Given the description of an element on the screen output the (x, y) to click on. 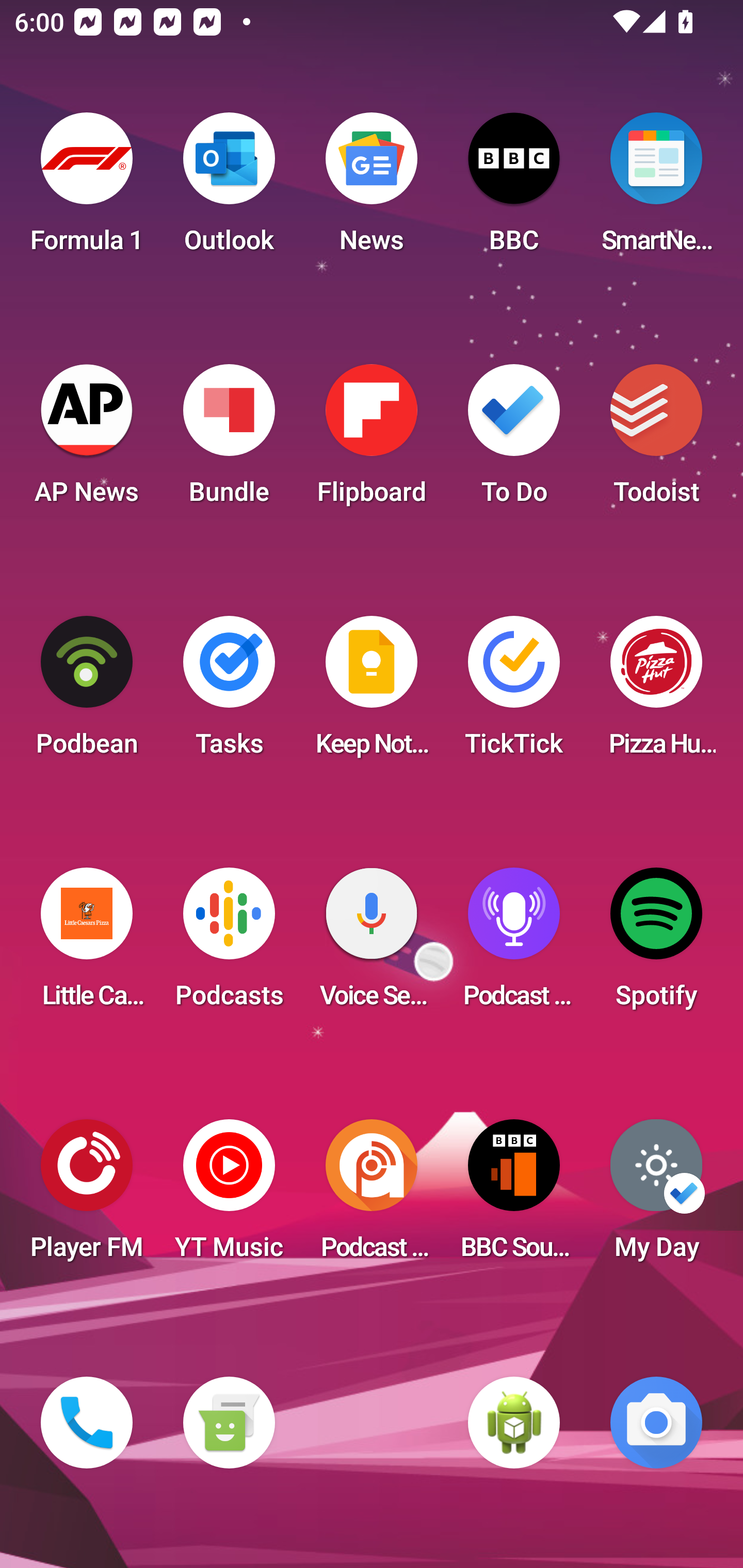
Formula 1 (86, 188)
Outlook (228, 188)
News (371, 188)
BBC (513, 188)
SmartNews (656, 188)
AP News (86, 440)
Bundle (228, 440)
Flipboard (371, 440)
To Do (513, 440)
Todoist (656, 440)
Podbean (86, 692)
Tasks (228, 692)
Keep Notes (371, 692)
TickTick (513, 692)
Pizza Hut HK & Macau (656, 692)
Little Caesars Pizza (86, 943)
Podcasts (228, 943)
Voice Search (371, 943)
Podcast Player (513, 943)
Spotify (656, 943)
Player FM (86, 1195)
YT Music (228, 1195)
Podcast Addict (371, 1195)
BBC Sounds (513, 1195)
My Day (656, 1195)
Phone (86, 1422)
Messaging (228, 1422)
WebView Browser Tester (513, 1422)
Camera (656, 1422)
